Given the description of an element on the screen output the (x, y) to click on. 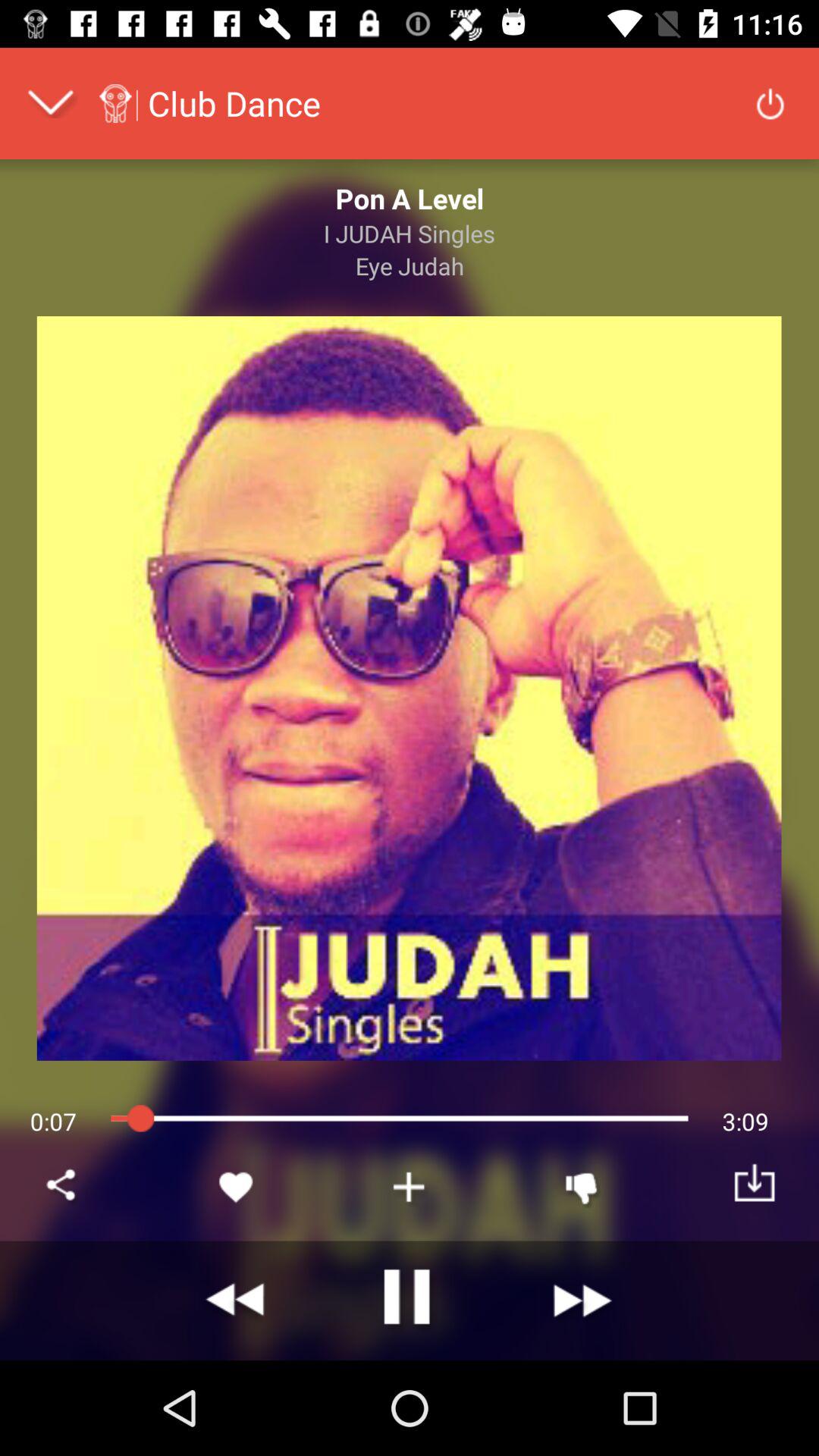
choose icon to the left of the 3:09 (582, 1186)
